Given the description of an element on the screen output the (x, y) to click on. 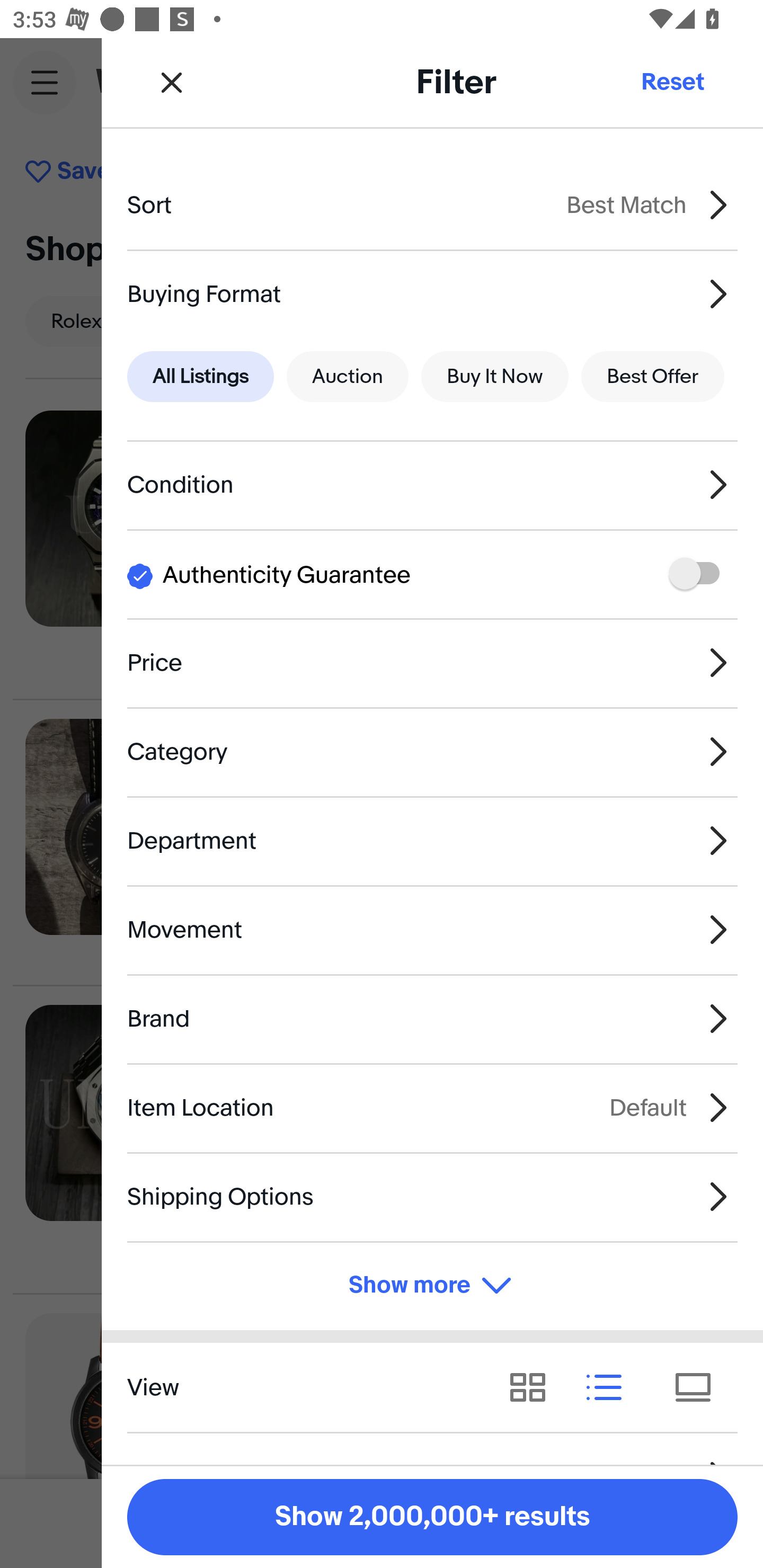
Close Filter (171, 81)
Reset (672, 81)
Buying Format (432, 293)
All Listings (200, 376)
Auction (347, 376)
Buy It Now (494, 376)
Best Offer (652, 376)
Condition (432, 484)
I  Authenticity Guarantee (432, 573)
Price (432, 662)
Category (432, 751)
Department (432, 840)
Movement (432, 929)
Brand (432, 1018)
Item Location Default (432, 1107)
Shipping Options (432, 1196)
Show more (432, 1285)
View results as grid (533, 1386)
View results as list (610, 1386)
View results as tiles (699, 1386)
Show 2,000,000+ results (432, 1516)
